Given the description of an element on the screen output the (x, y) to click on. 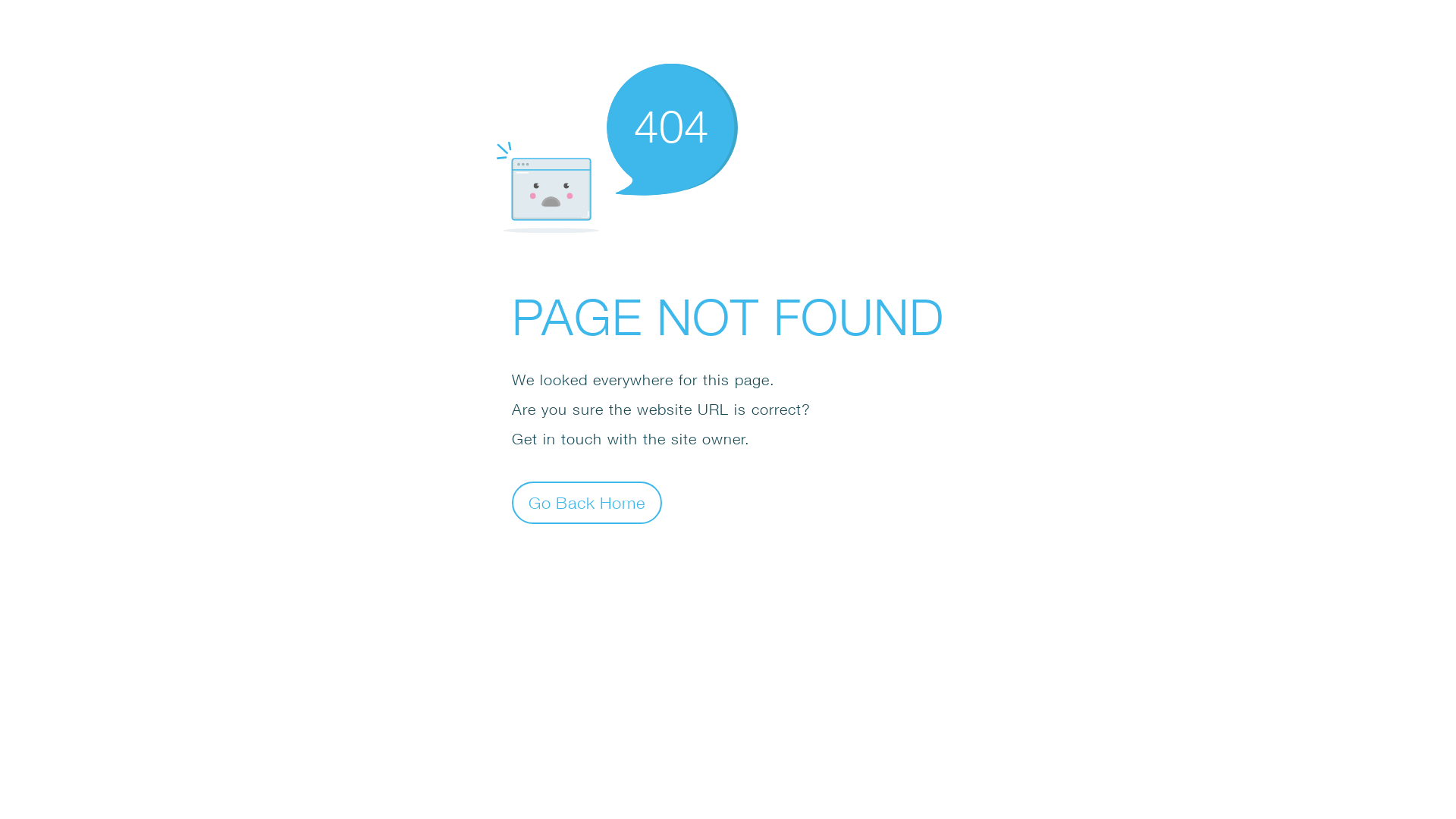
Go Back Home Element type: text (586, 502)
